Given the description of an element on the screen output the (x, y) to click on. 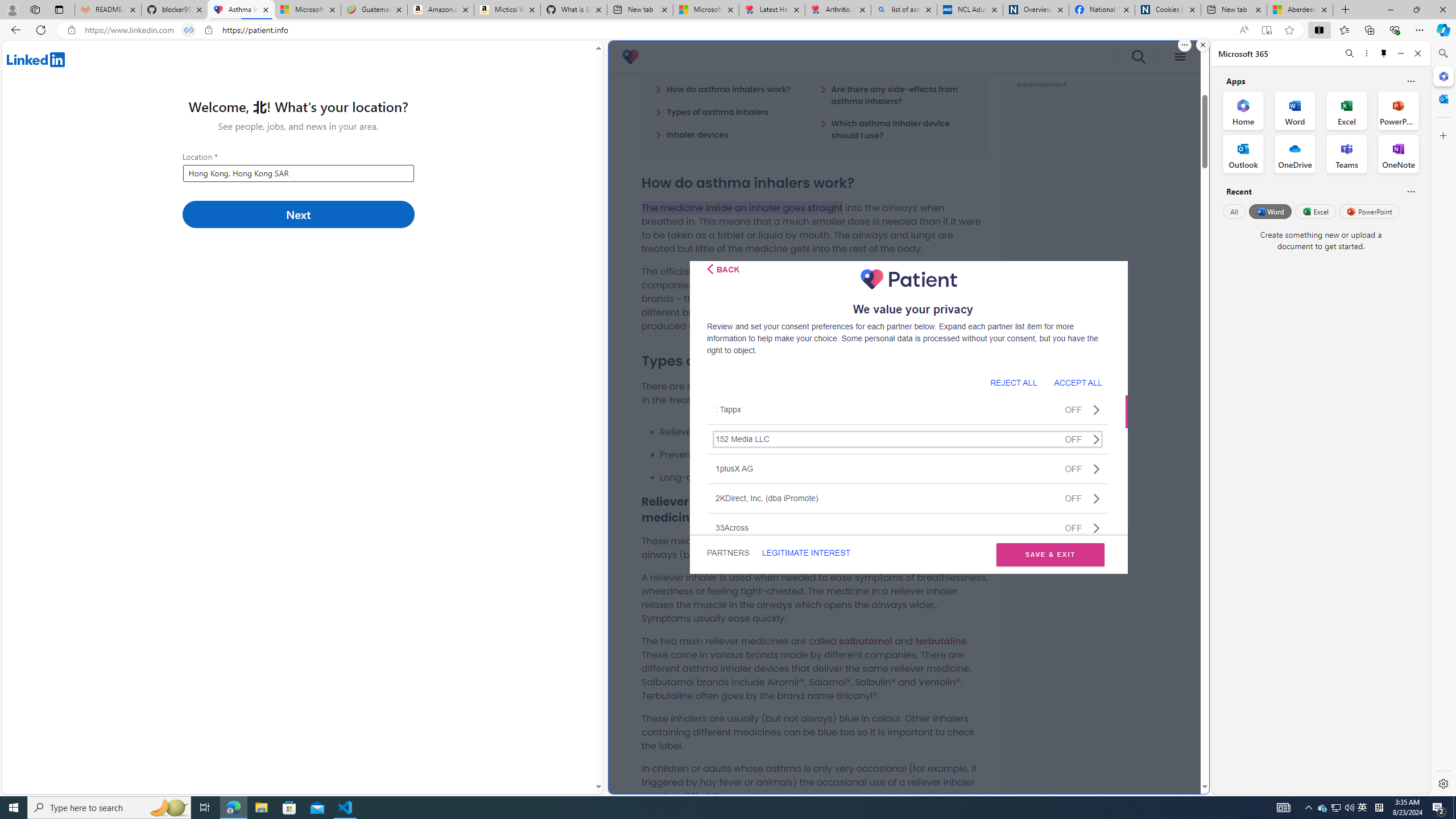
33AcrossOFF (907, 527)
Word (1269, 210)
OneNote Office App (1398, 154)
Close split screen. (1202, 45)
Side bar (1443, 418)
Favorites (1344, 29)
LEGITIMATE INTEREST (805, 552)
New Tab (1346, 9)
PowerPoint Office App (1398, 110)
Which asthma inhaler device should I use? (897, 129)
Back (723, 268)
